Given the description of an element on the screen output the (x, y) to click on. 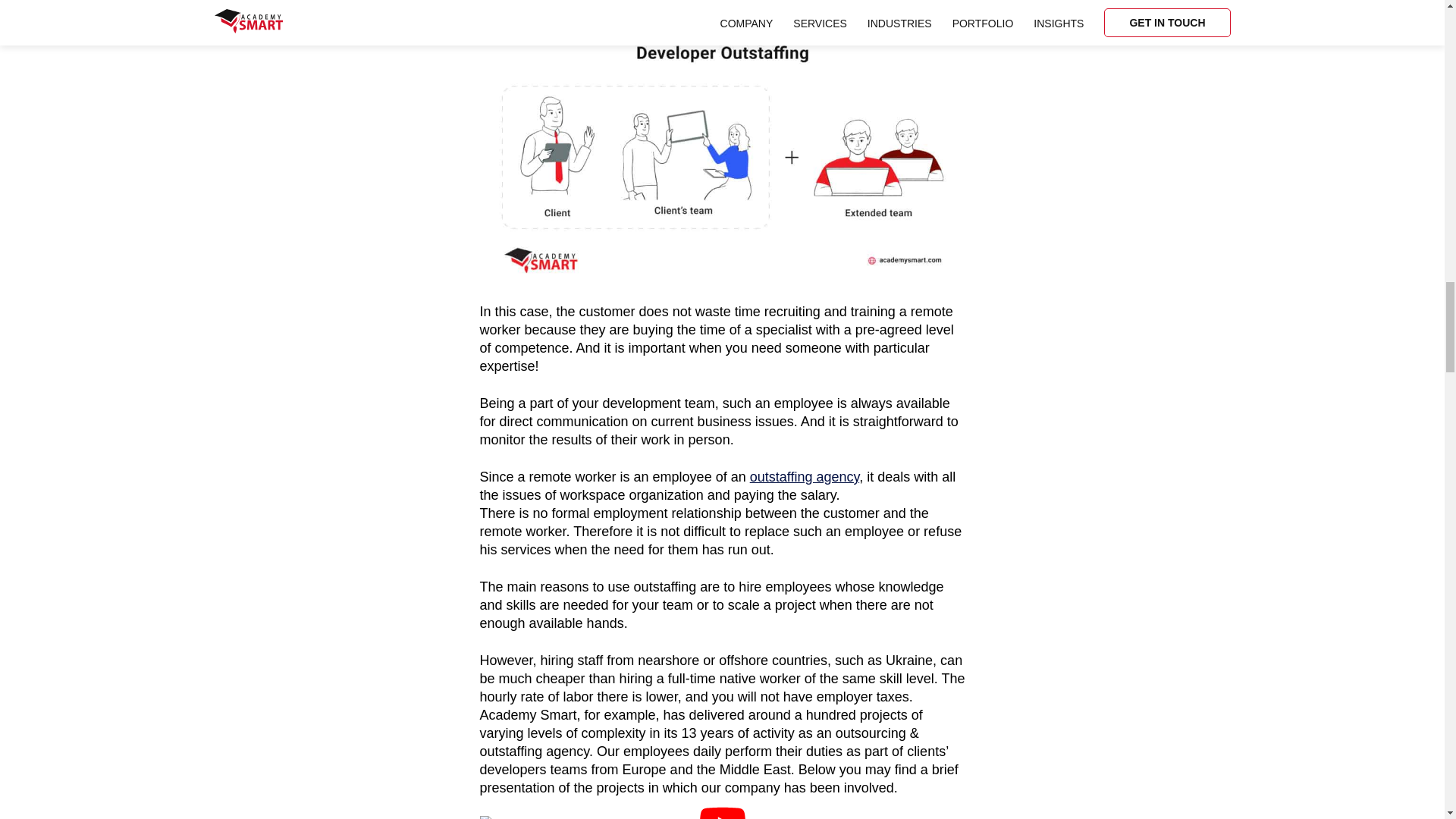
outstaffing agency (804, 476)
